Given the description of an element on the screen output the (x, y) to click on. 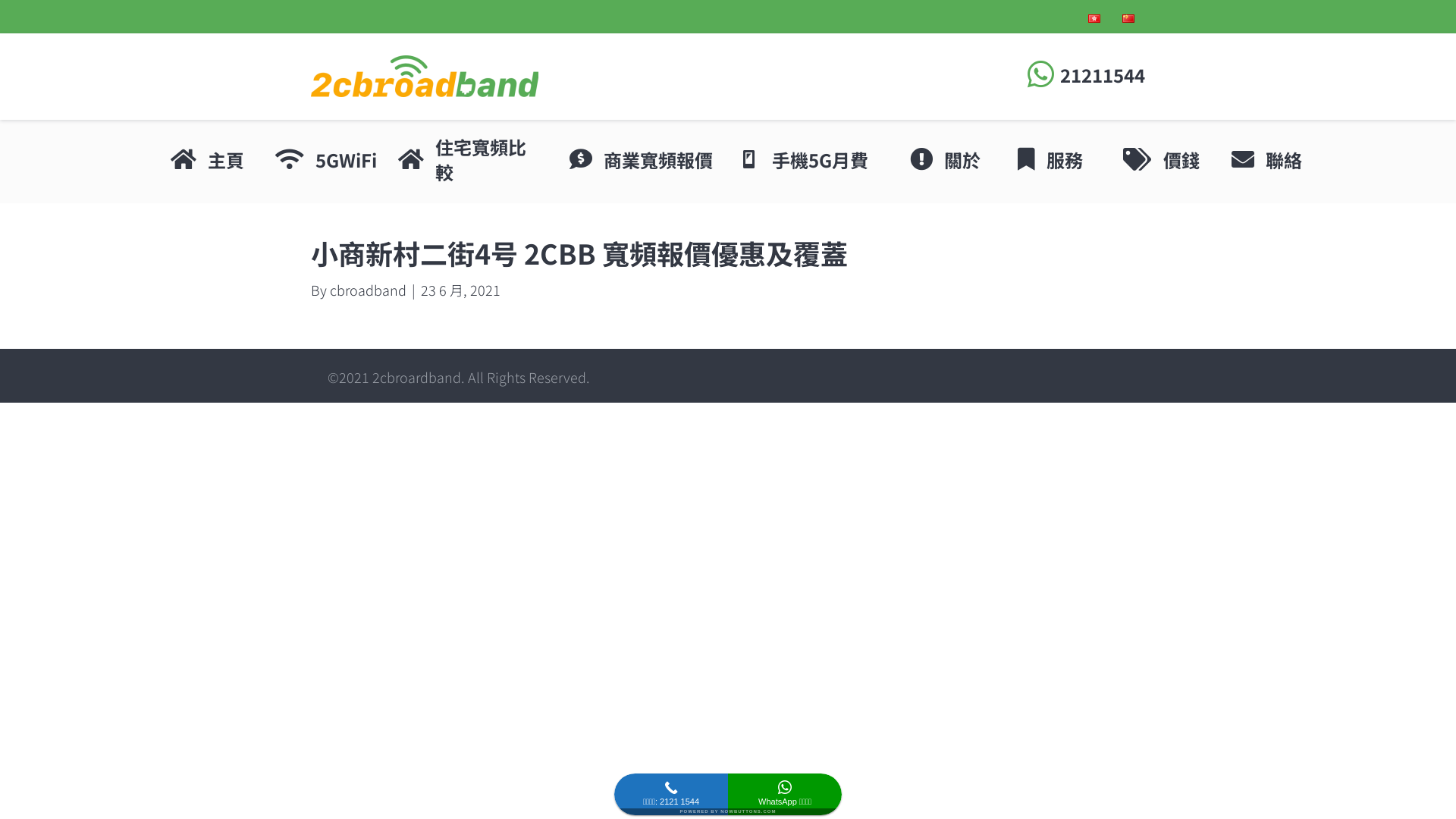
21211544 Element type: text (1102, 74)
cbroadband Element type: text (367, 289)
5GWiFi Element type: text (345, 159)
